Given the description of an element on the screen output the (x, y) to click on. 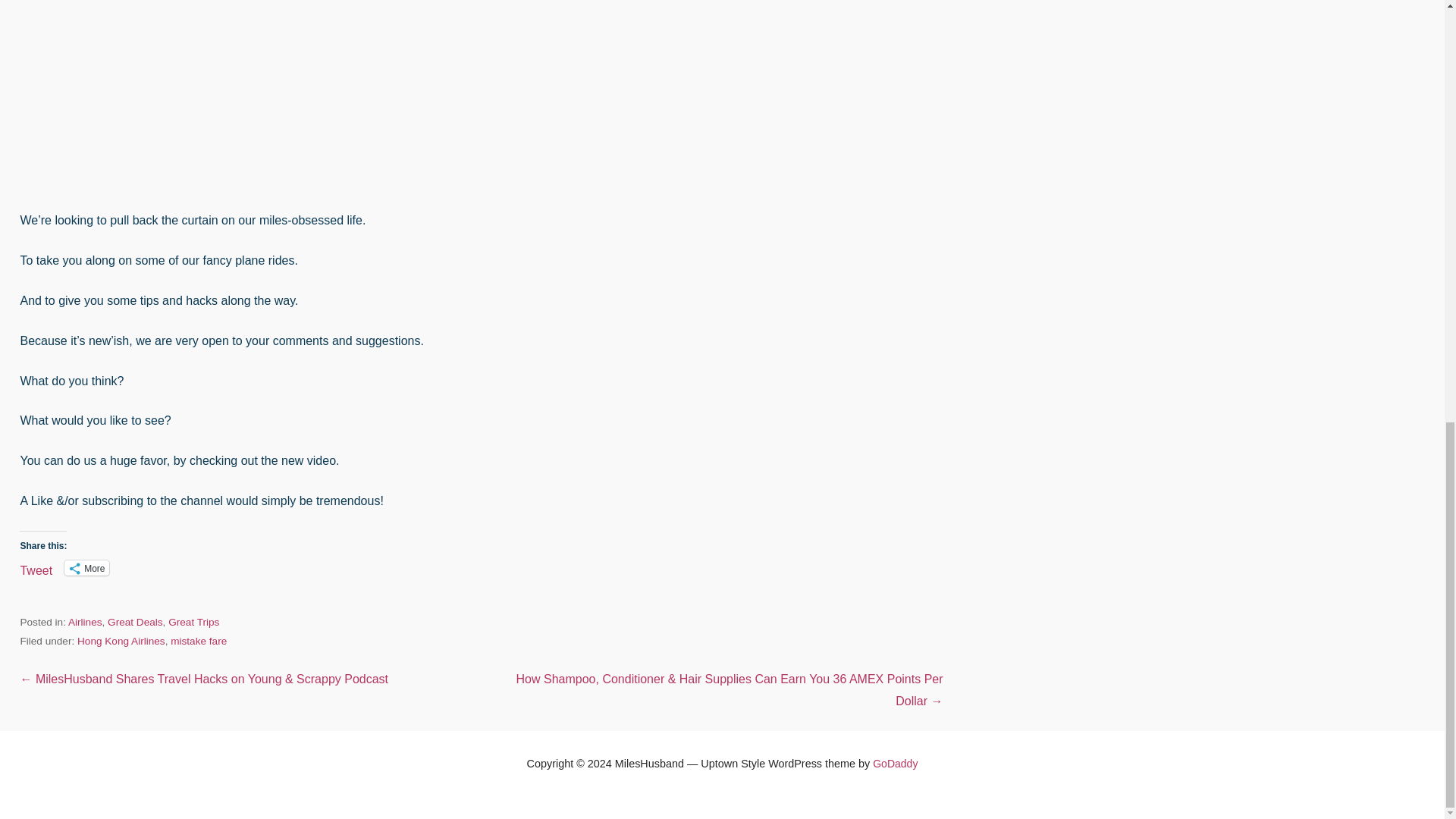
mistake fare (198, 641)
Tweet (36, 567)
Hong Kong Airlines (121, 641)
Airlines (84, 622)
More (86, 567)
Great Deals (135, 622)
GoDaddy (894, 763)
Great Trips (193, 622)
